Given the description of an element on the screen output the (x, y) to click on. 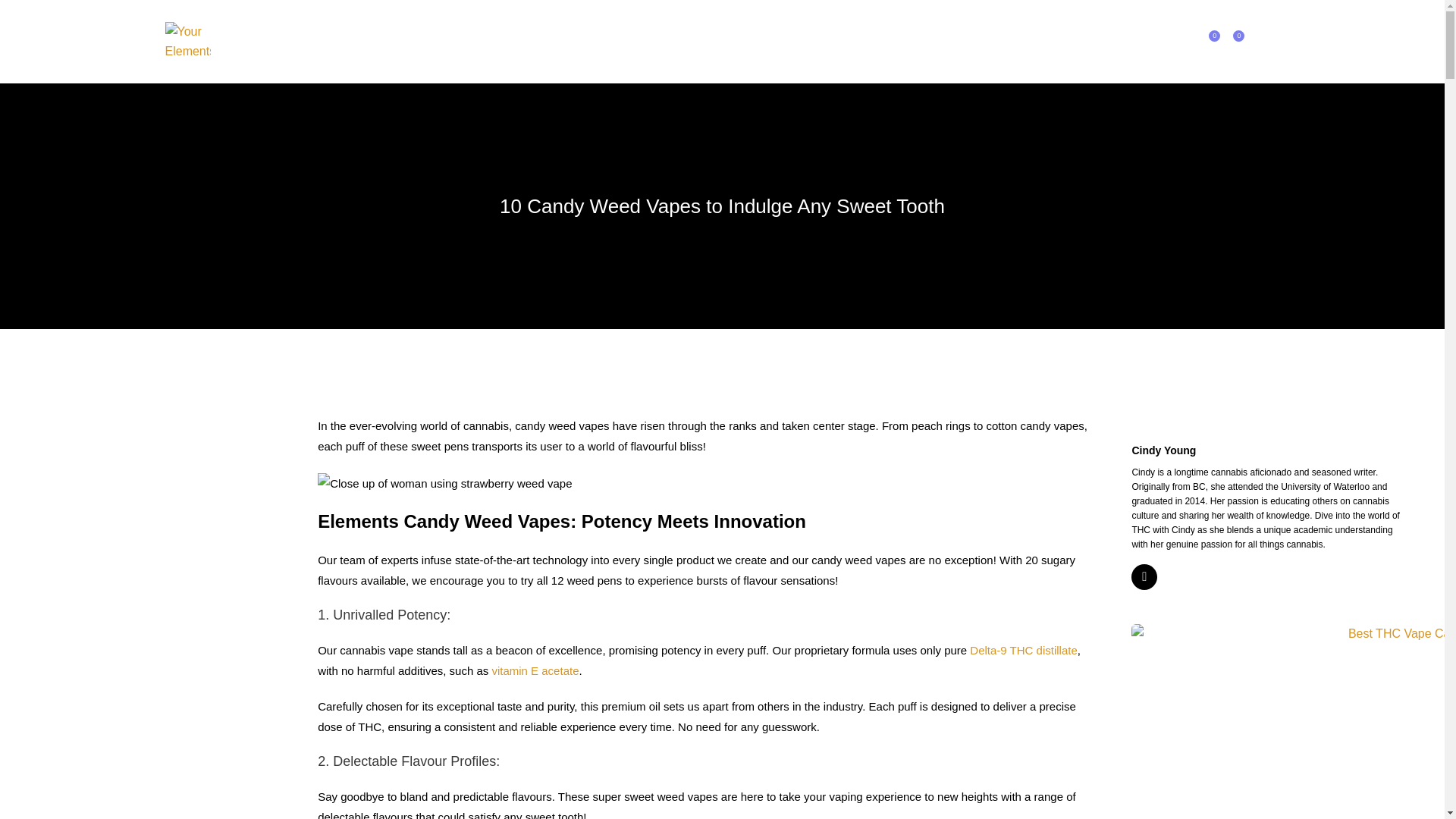
EDIBLES (701, 41)
Shopping cart (1255, 41)
CONCENTRATES (607, 41)
FLOWER (509, 41)
VAPES (442, 41)
SALE (390, 41)
STRAINS (772, 41)
